Given the description of an element on the screen output the (x, y) to click on. 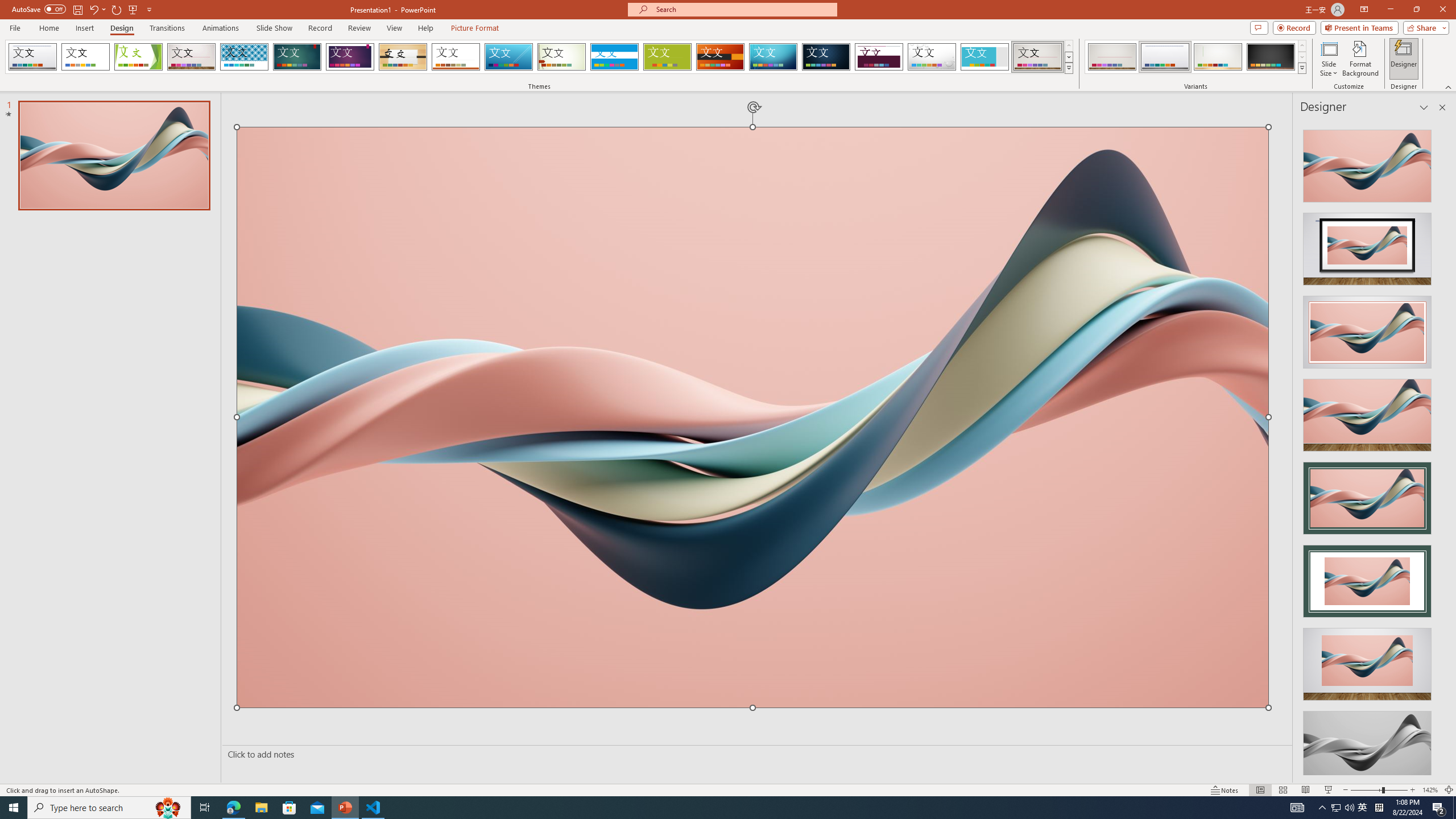
Ion Boardroom (350, 56)
Banded (614, 56)
Damask (826, 56)
AfterglowVTI (32, 56)
Facet (138, 56)
Retrospect (455, 56)
Ion (296, 56)
Gallery Variant 3 (1217, 56)
